Given the description of an element on the screen output the (x, y) to click on. 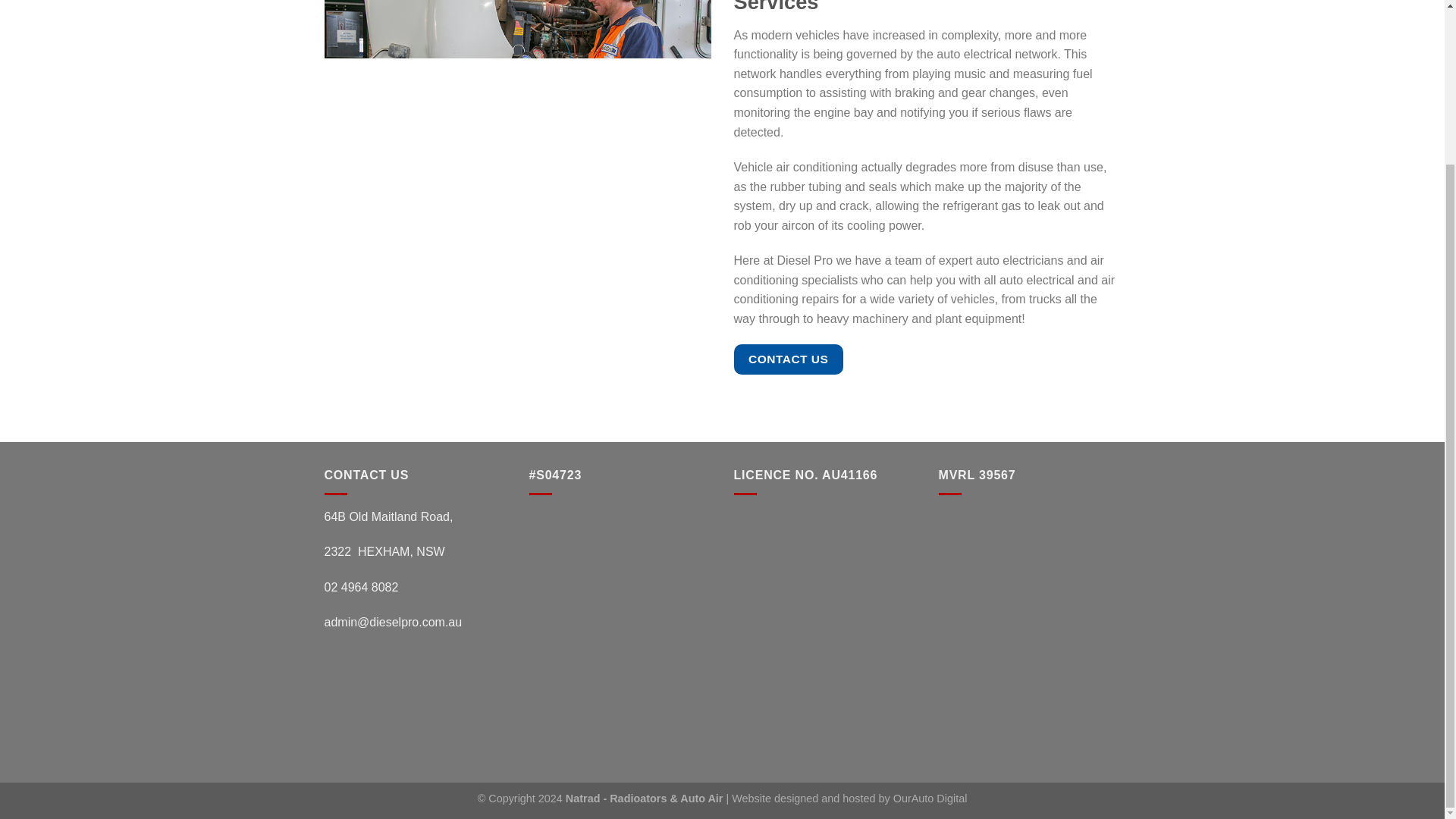
2322  HEXHAM, NSW (384, 551)
CONTACT US (788, 358)
02 4964 8082 (361, 586)
64B Old Maitland Road, (388, 516)
